Given the description of an element on the screen output the (x, y) to click on. 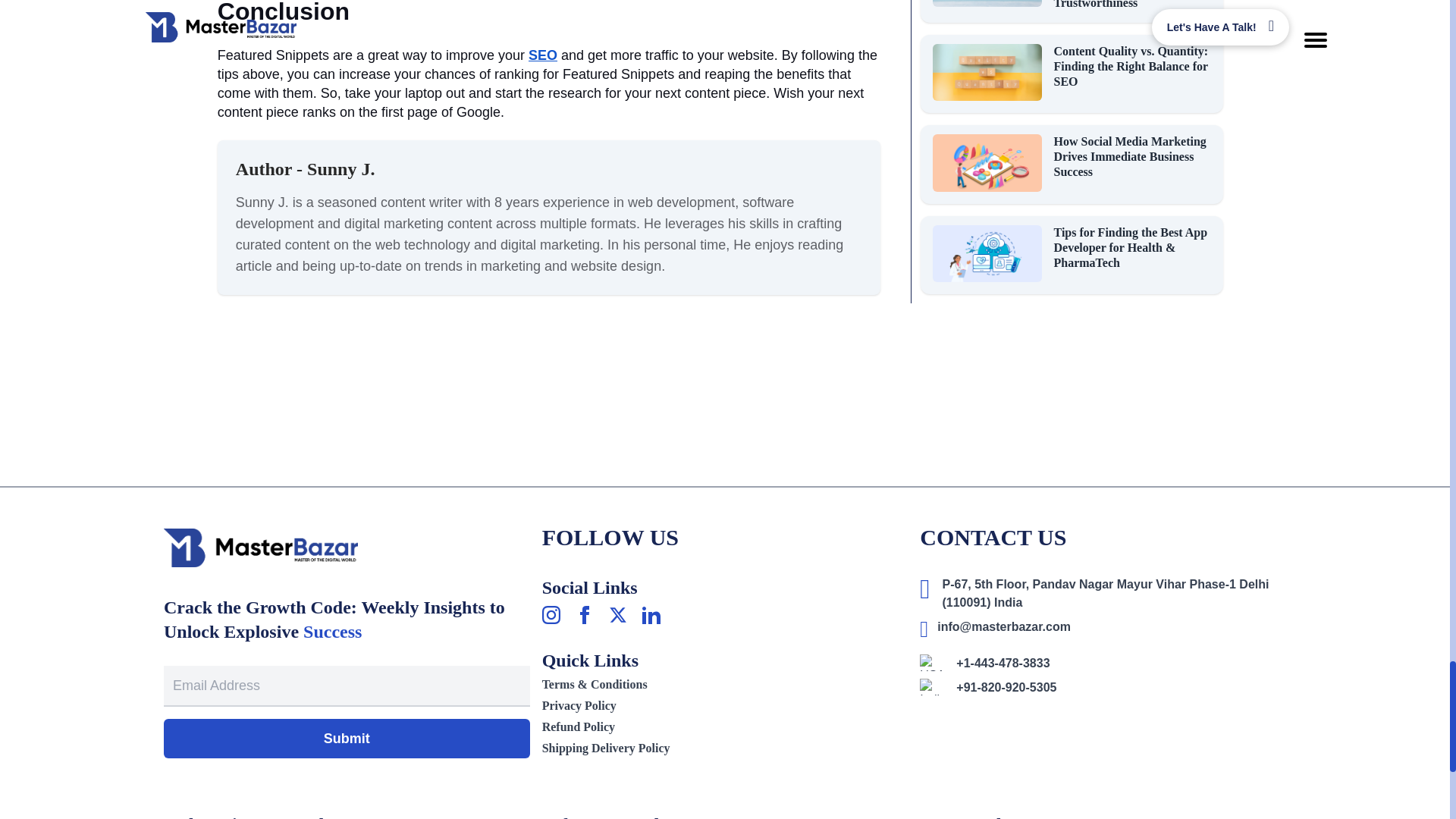
SEO (542, 55)
